Given the description of an element on the screen output the (x, y) to click on. 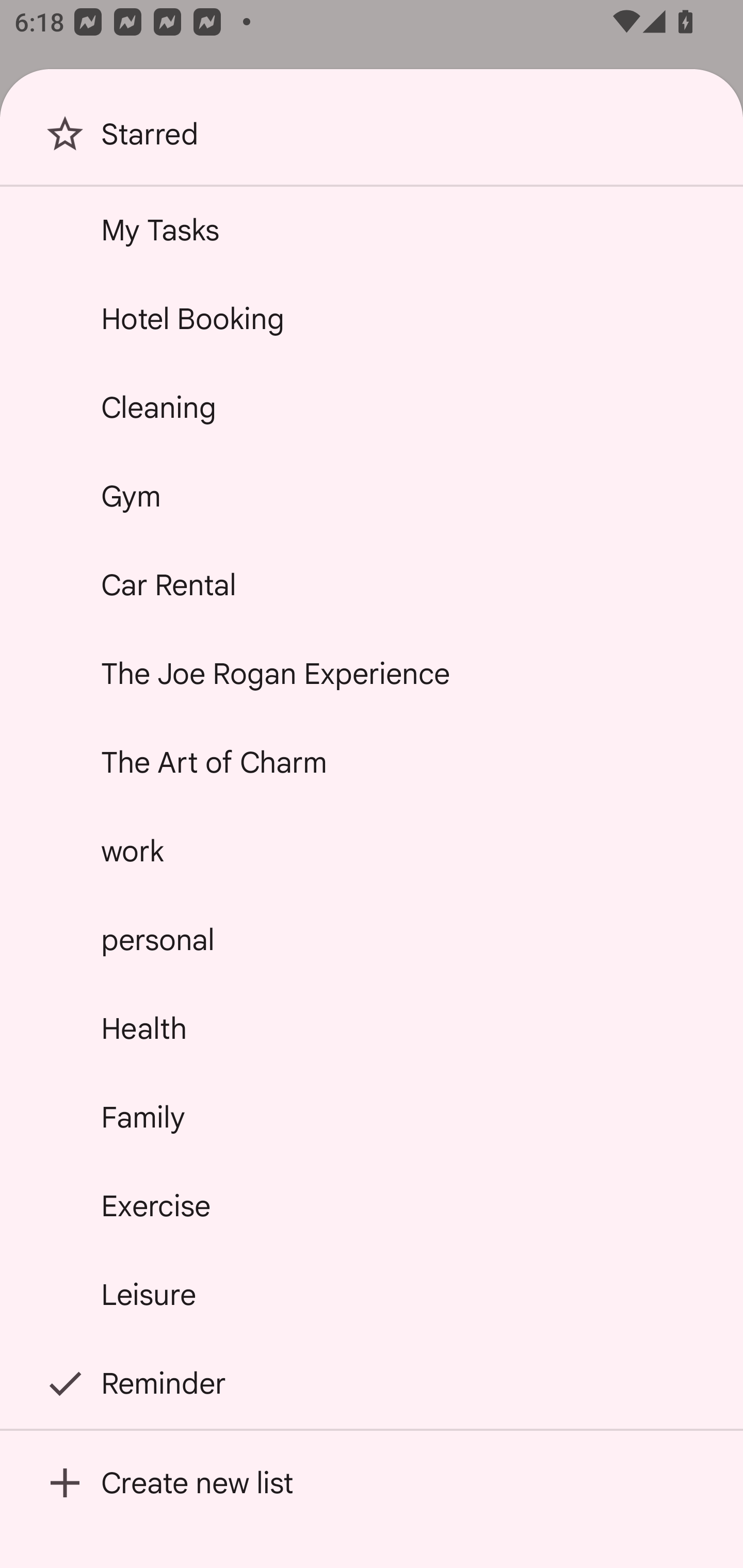
Starred (371, 141)
My Tasks (371, 229)
Hotel Booking (371, 318)
Cleaning (371, 407)
Gym (371, 496)
Car Rental (371, 584)
The Joe Rogan Experience (371, 673)
The Art of Charm (371, 762)
work (371, 850)
personal (371, 939)
Health (371, 1028)
Family (371, 1117)
Exercise (371, 1205)
Leisure (371, 1294)
Reminder (371, 1383)
Create new list (371, 1482)
